Given the description of an element on the screen output the (x, y) to click on. 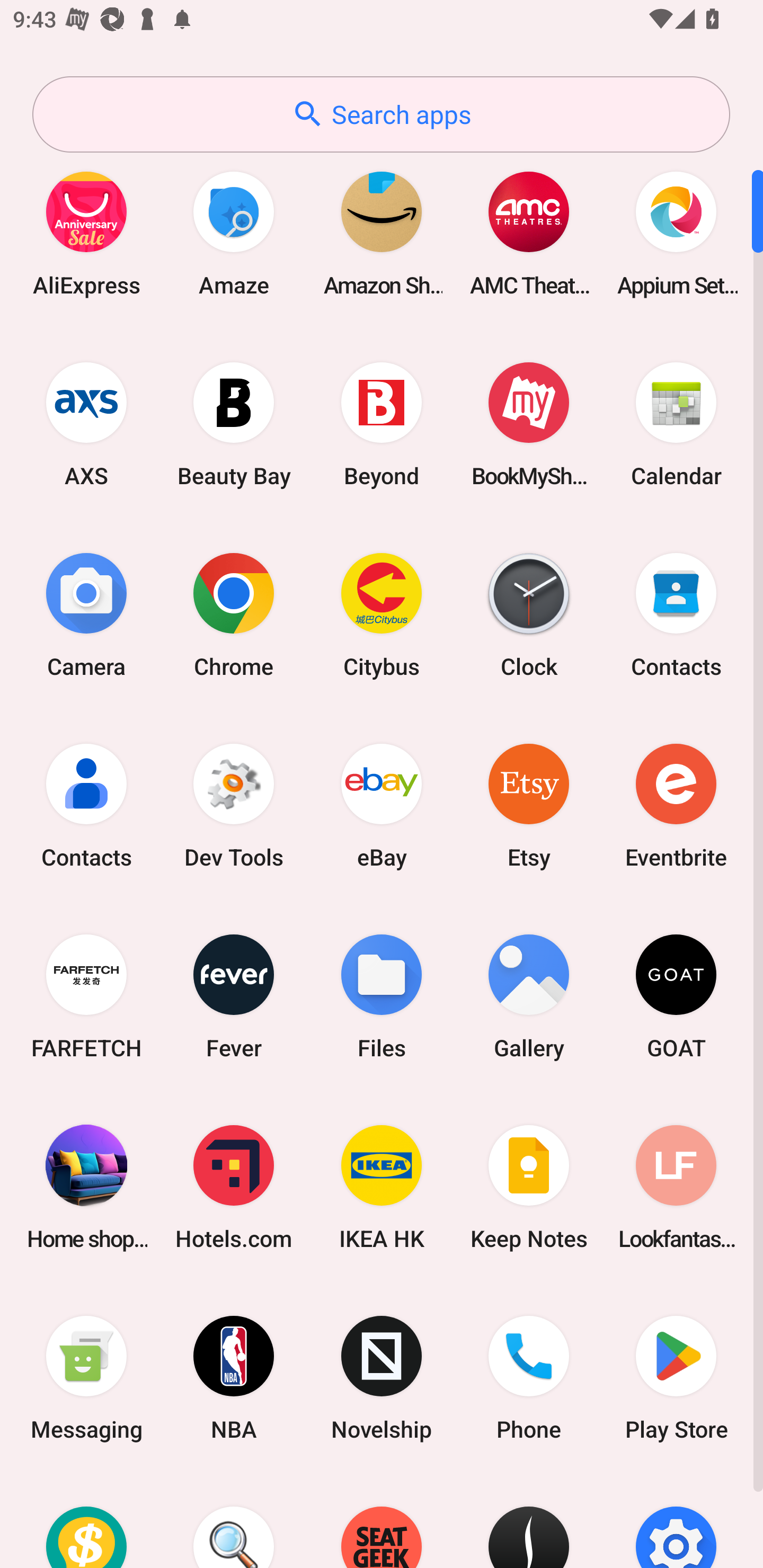
  Search apps (381, 114)
AliExpress (86, 233)
Amaze (233, 233)
Amazon Shopping (381, 233)
AMC Theatres (528, 233)
Appium Settings (676, 233)
AXS (86, 424)
Beauty Bay (233, 424)
Beyond (381, 424)
BookMyShow (528, 424)
Calendar (676, 424)
Camera (86, 614)
Chrome (233, 614)
Citybus (381, 614)
Clock (528, 614)
Contacts (676, 614)
Contacts (86, 805)
Dev Tools (233, 805)
eBay (381, 805)
Etsy (528, 805)
Eventbrite (676, 805)
FARFETCH (86, 996)
Fever (233, 996)
Files (381, 996)
Gallery (528, 996)
GOAT (676, 996)
Home shopping (86, 1186)
Hotels.com (233, 1186)
IKEA HK (381, 1186)
Keep Notes (528, 1186)
Lookfantastic (676, 1186)
Messaging (86, 1377)
NBA (233, 1377)
Novelship (381, 1377)
Phone (528, 1377)
Play Store (676, 1377)
